Given the description of an element on the screen output the (x, y) to click on. 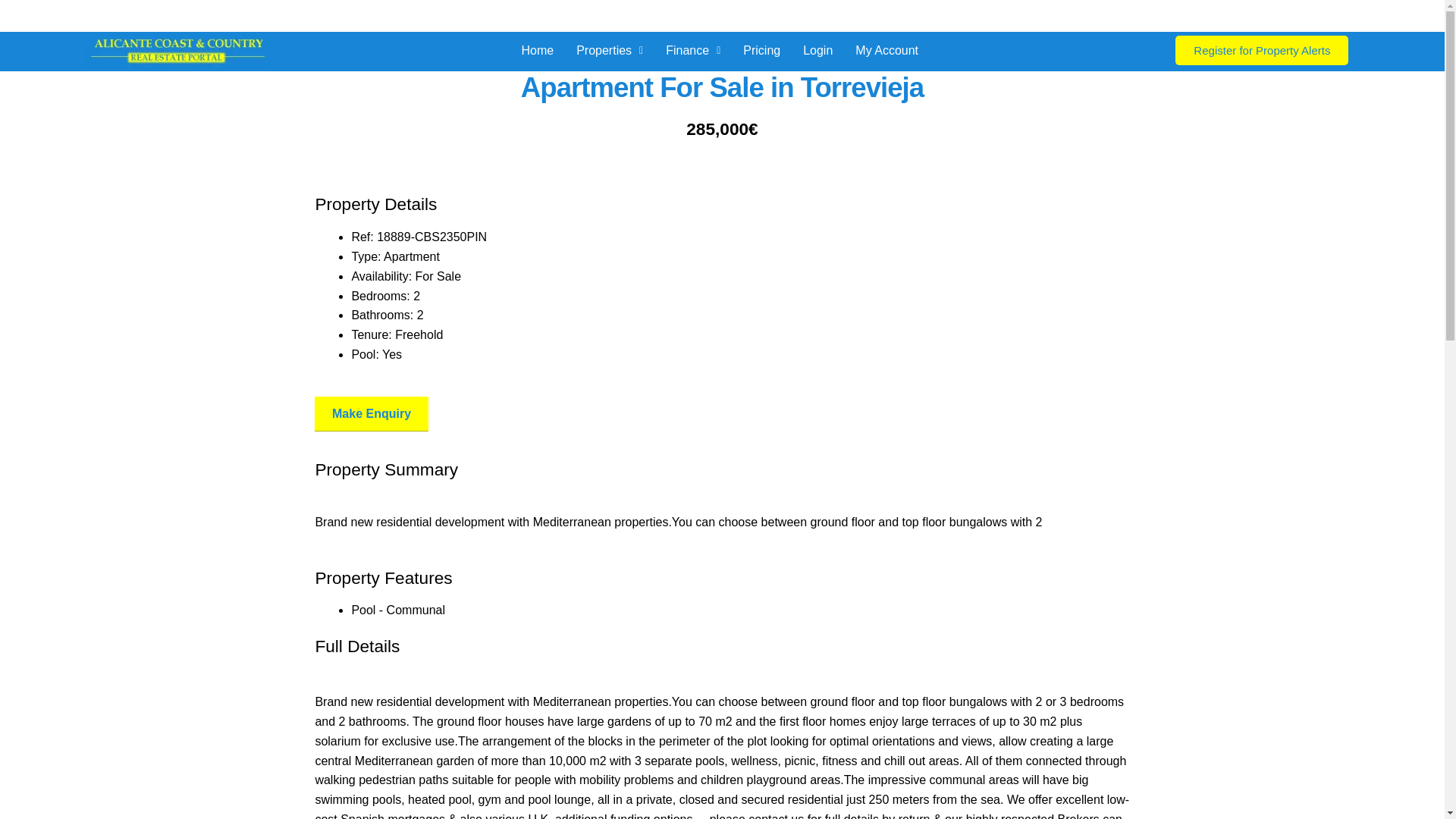
Properties (608, 50)
Home (536, 50)
